Given the description of an element on the screen output the (x, y) to click on. 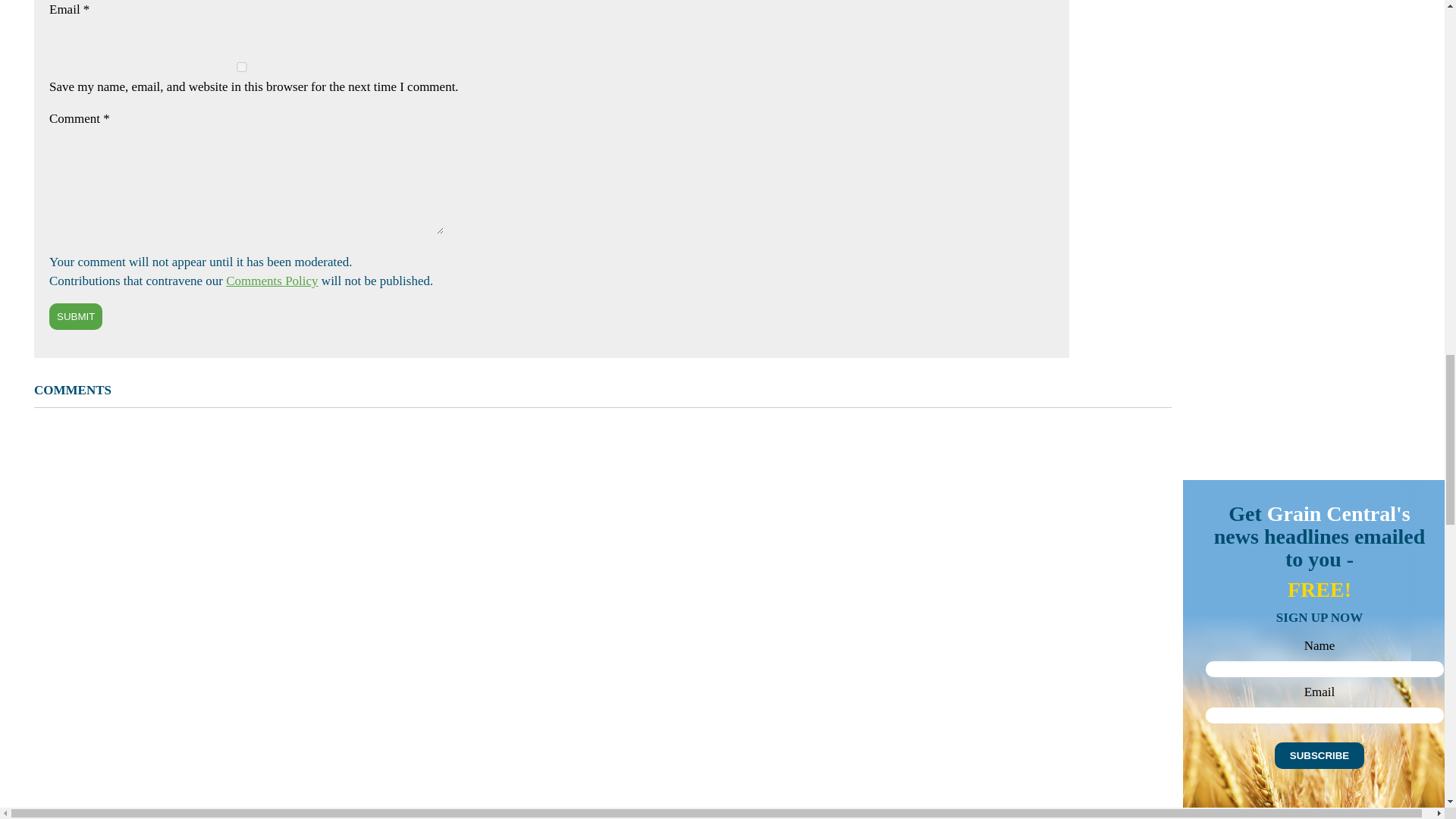
SUBMIT (75, 316)
yes (241, 67)
3rd party ad content (1296, 172)
3rd party ad content (1296, 31)
SUBMIT (75, 316)
SUBSCRIBE (1320, 755)
3rd party ad content (1296, 582)
3rd party ad content (1296, 377)
Comments Policy (271, 280)
